Given the description of an element on the screen output the (x, y) to click on. 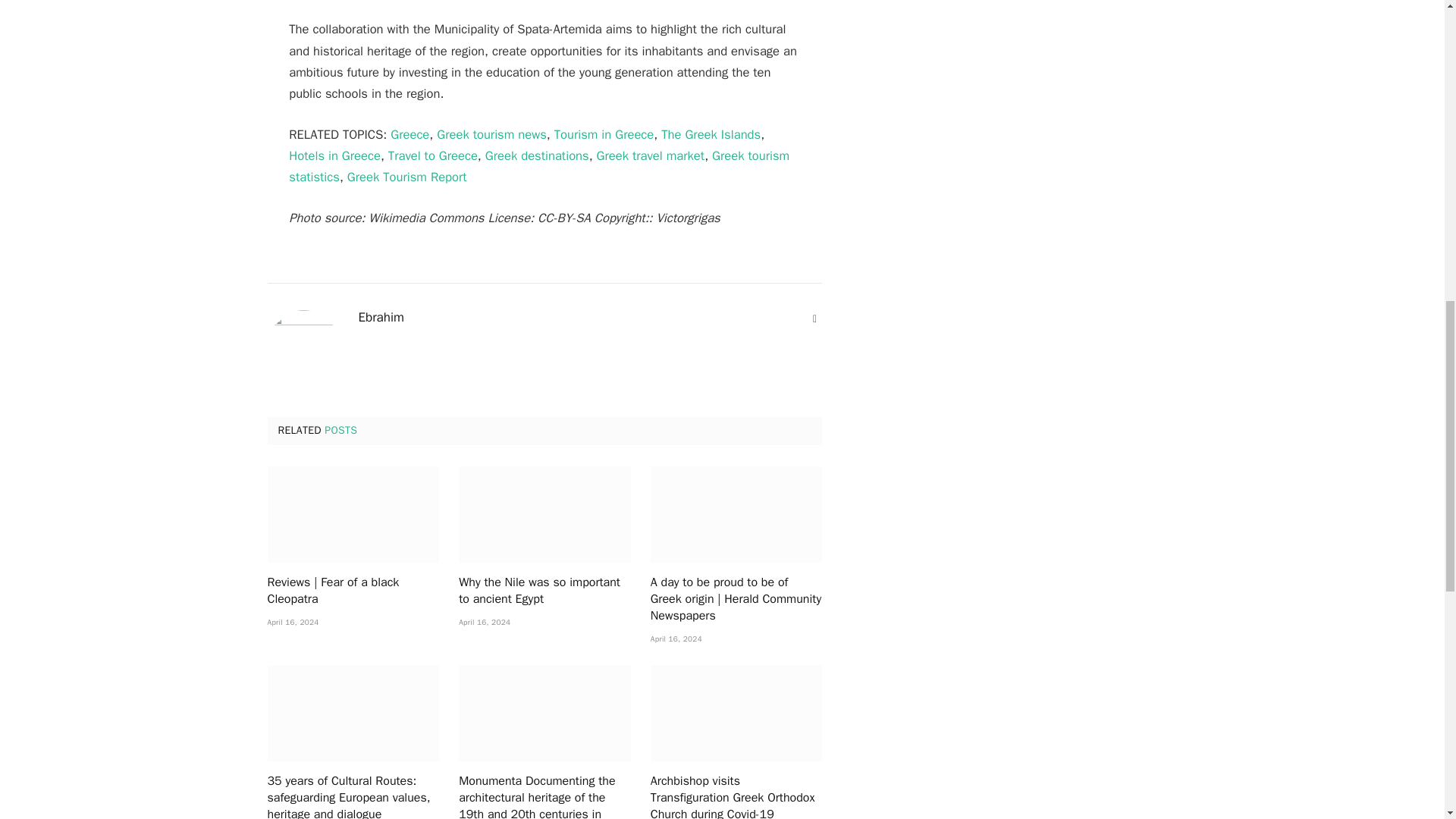
Greek tourism news (491, 134)
Greek Tourism Report (407, 176)
Why the Nile was so important to ancient Egypt (544, 514)
Posts by Ebrahim (380, 317)
Website (814, 319)
Greek travel market (650, 155)
The Greek Islands (710, 134)
Tourism in Greece (603, 134)
Greece (409, 134)
Website (814, 319)
Travel to Greece (432, 155)
Ebrahim (380, 317)
Greek tourism statistics (538, 166)
